Given the description of an element on the screen output the (x, y) to click on. 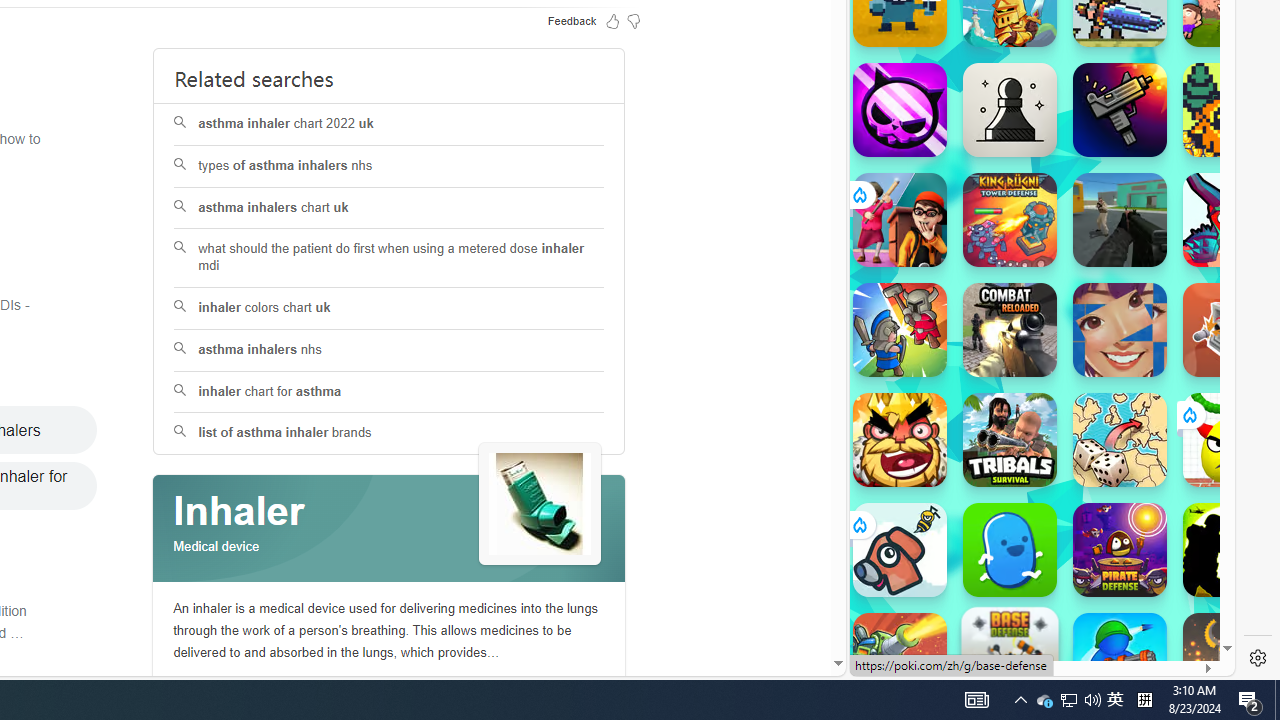
Combat Reloaded Combat Reloaded poki.com (1092, 245)
Poki (1034, 606)
Class: spl_logobg (389, 529)
asthma inhalers nhs (389, 350)
asthma inhaler chart 2022 uk (388, 123)
Click to scroll right (1196, 247)
list of asthma inhaler brands (388, 434)
Funny Shooter 2 Funny Shooter 2 (1229, 219)
See more images of Inhaler (539, 503)
War Master (1119, 659)
King Rugni (1009, 219)
poki.com (1092, 338)
AutomationID: mfa_root (762, 603)
Jigsaw Gems Jigsaw Gems (1119, 329)
